Given the description of an element on the screen output the (x, y) to click on. 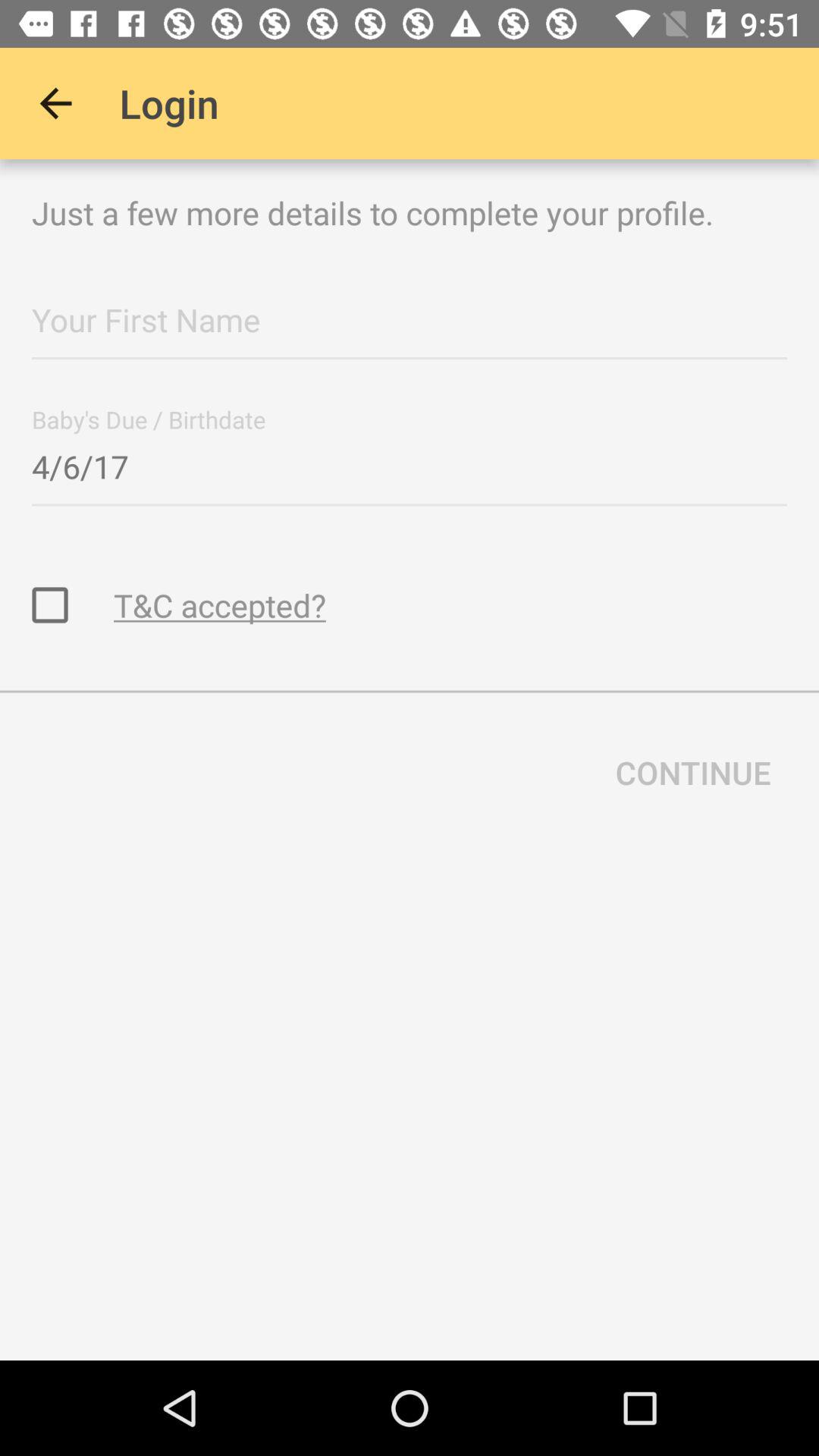
select item on the right (693, 772)
